Given the description of an element on the screen output the (x, y) to click on. 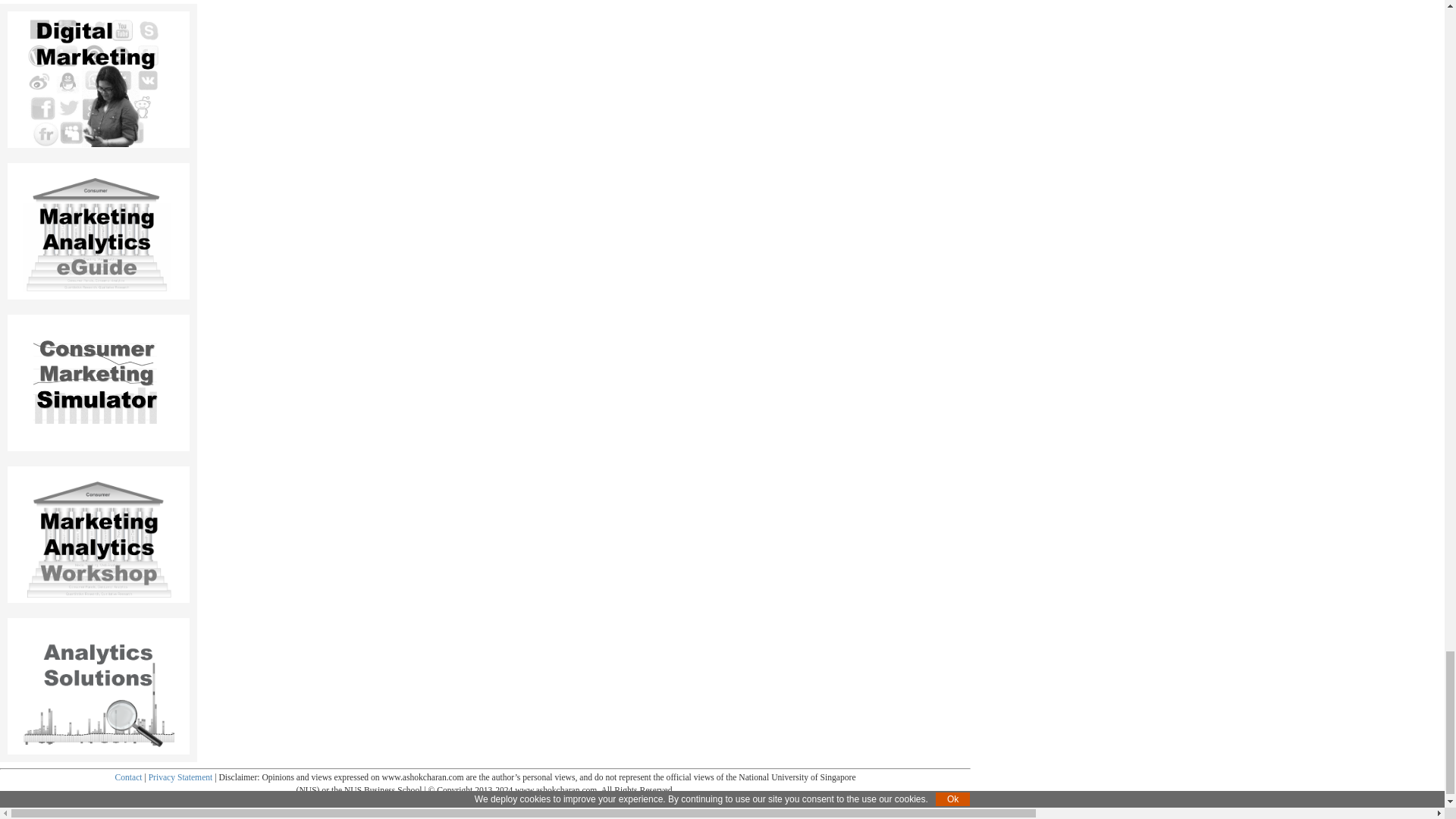
Digital Marketing, Practitioner's Guide to Digital Marketing (98, 79)
Marketing Analytics Solutions for Marketers (98, 697)
